Given the description of an element on the screen output the (x, y) to click on. 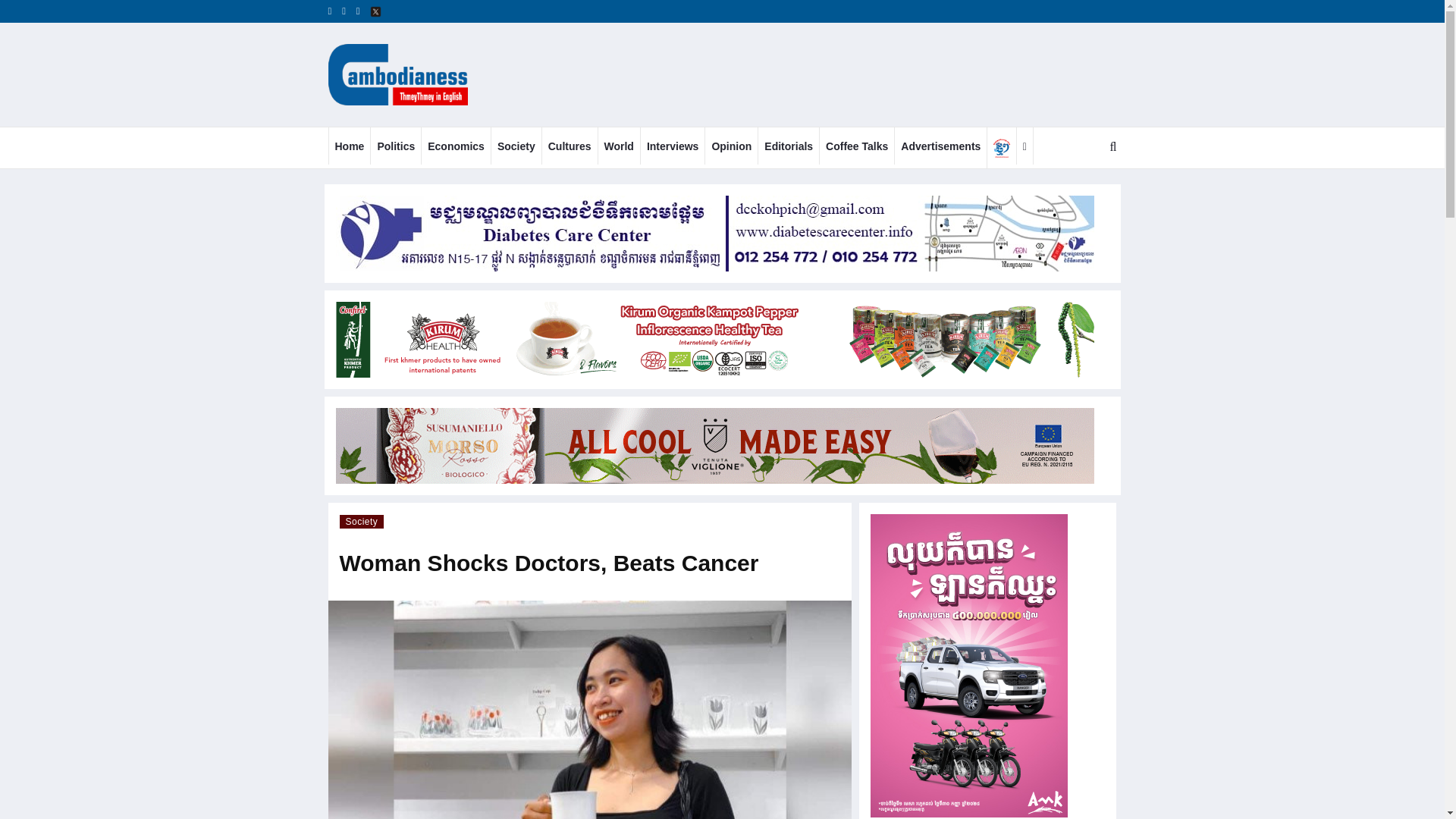
Politics (395, 146)
Home (350, 146)
Editorials (788, 146)
Woman Shocks Doctors, Beats Cancer (588, 709)
Opinion (730, 146)
Interviews (672, 146)
Society (361, 521)
Cultures (568, 146)
Coffee Talks (856, 146)
Advertisements (941, 146)
Society (516, 146)
World (619, 146)
Economics (456, 146)
